Given the description of an element on the screen output the (x, y) to click on. 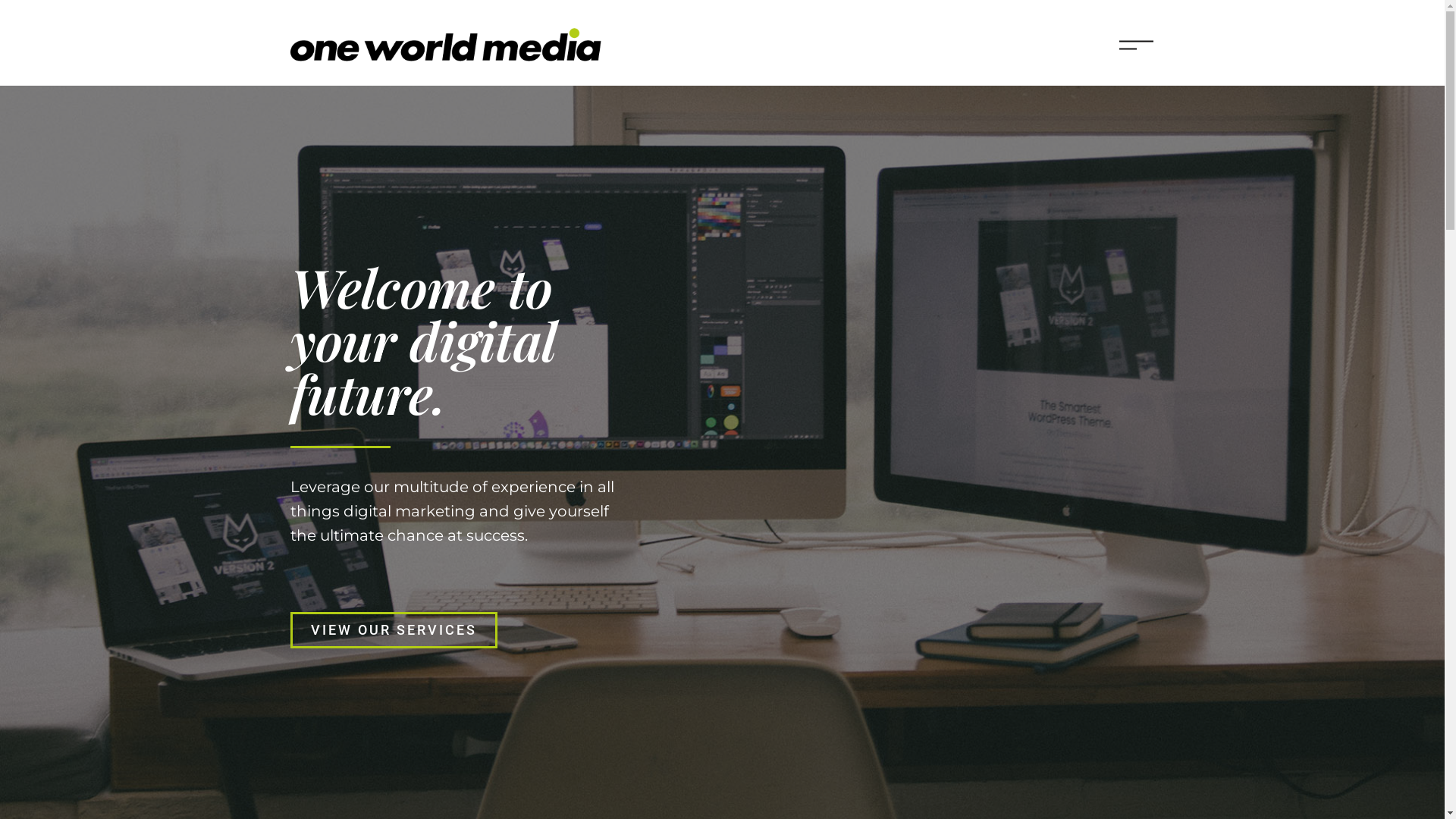
VIEW OUR SERVICES Element type: text (392, 629)
